Given the description of an element on the screen output the (x, y) to click on. 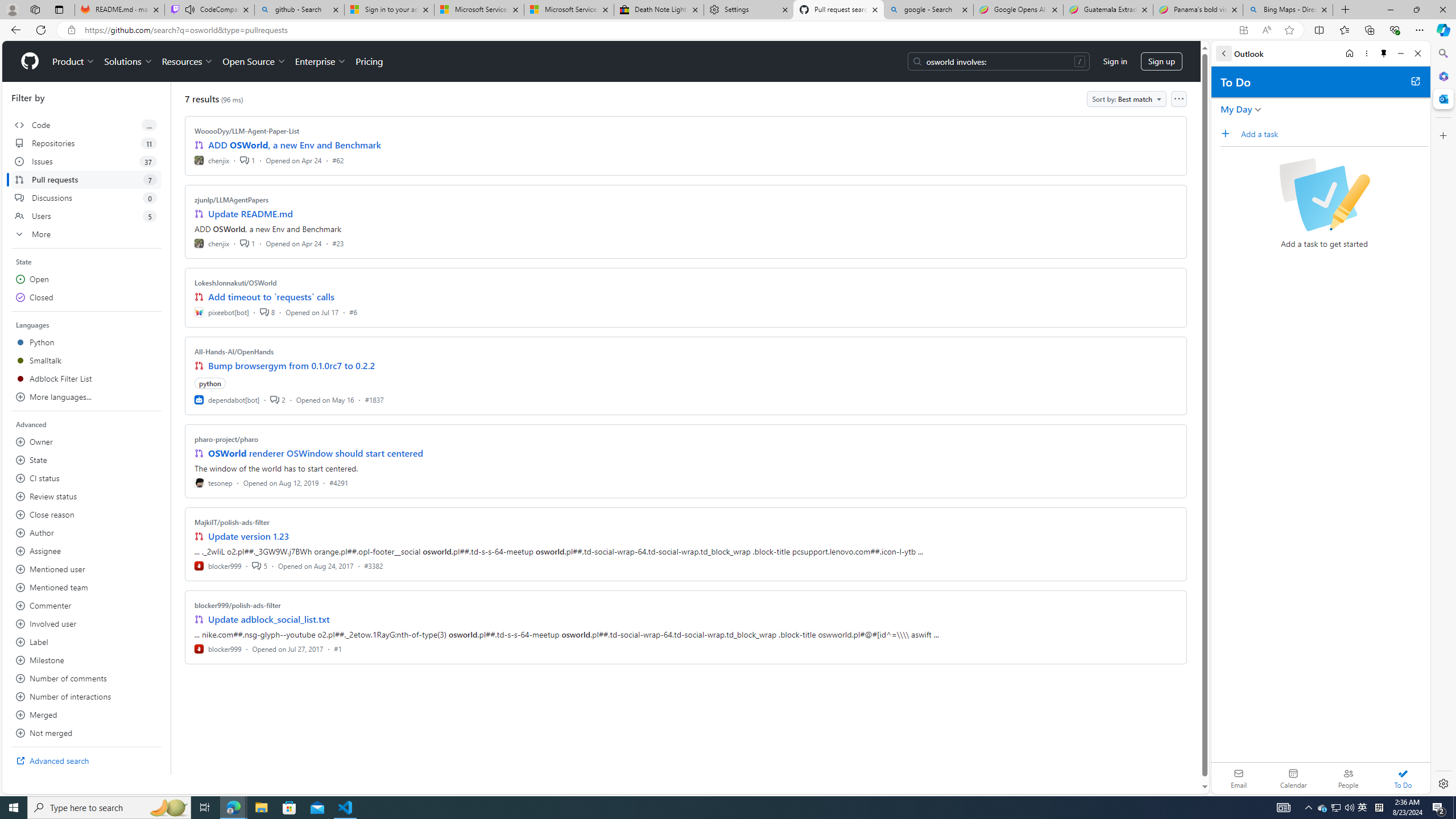
Update adblock_social_list.txt (269, 619)
MajkiIT/polish-ads-filter (232, 521)
People (1347, 777)
#62 (337, 159)
5 (259, 565)
Email (1238, 777)
Sign in to your account (389, 9)
